Given the description of an element on the screen output the (x, y) to click on. 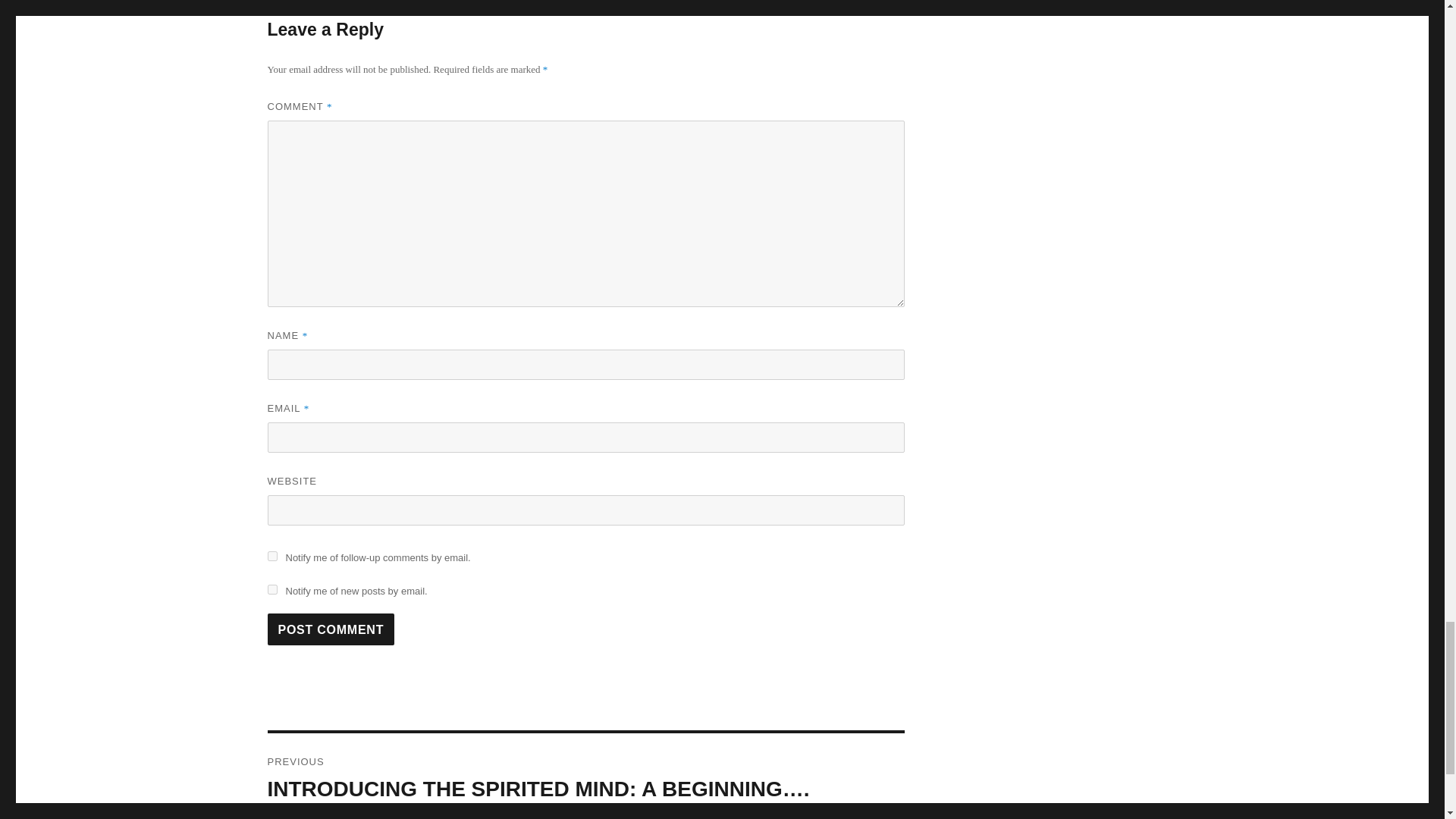
Post Comment (330, 629)
subscribe (271, 556)
subscribe (271, 589)
Post Comment (330, 629)
